Given the description of an element on the screen output the (x, y) to click on. 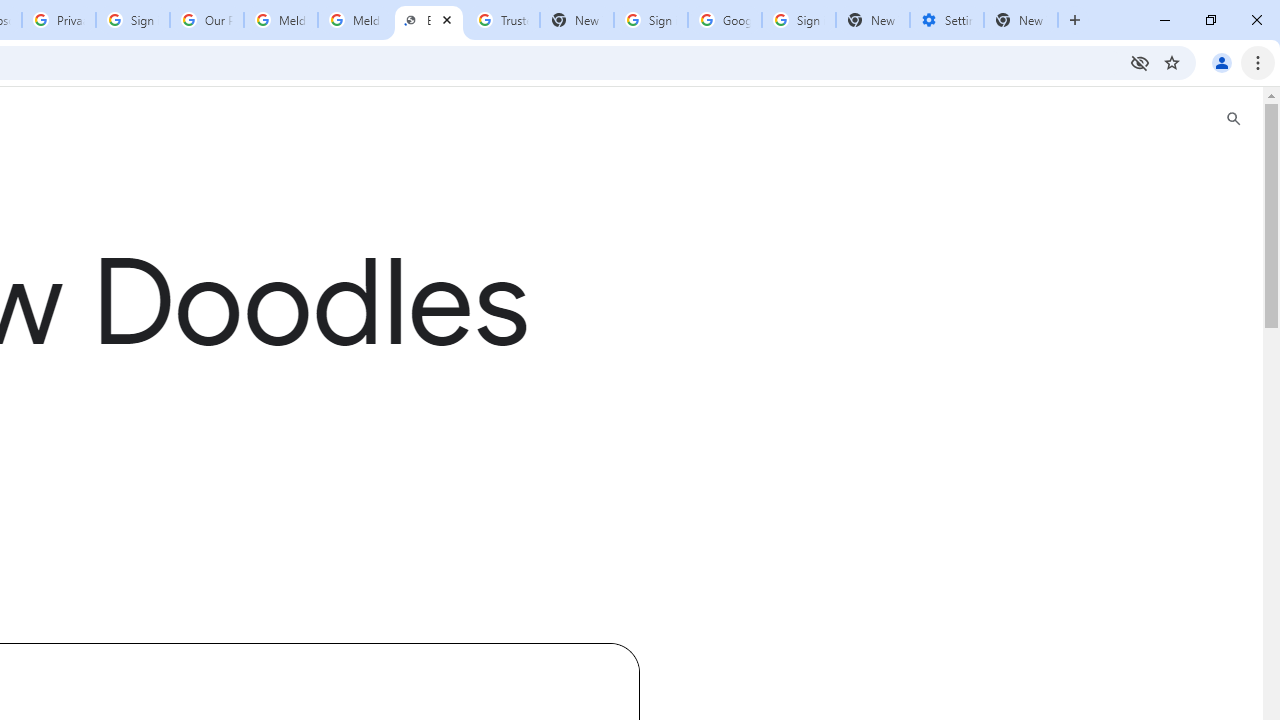
Sign in - Google Accounts (133, 20)
Sign in - Google Accounts (651, 20)
Settings - Addresses and more (947, 20)
Sign in - Google Accounts (798, 20)
New Tab (1021, 20)
Trusted Information and Content - Google Safety Center (502, 20)
New Tab (872, 20)
